Given the description of an element on the screen output the (x, y) to click on. 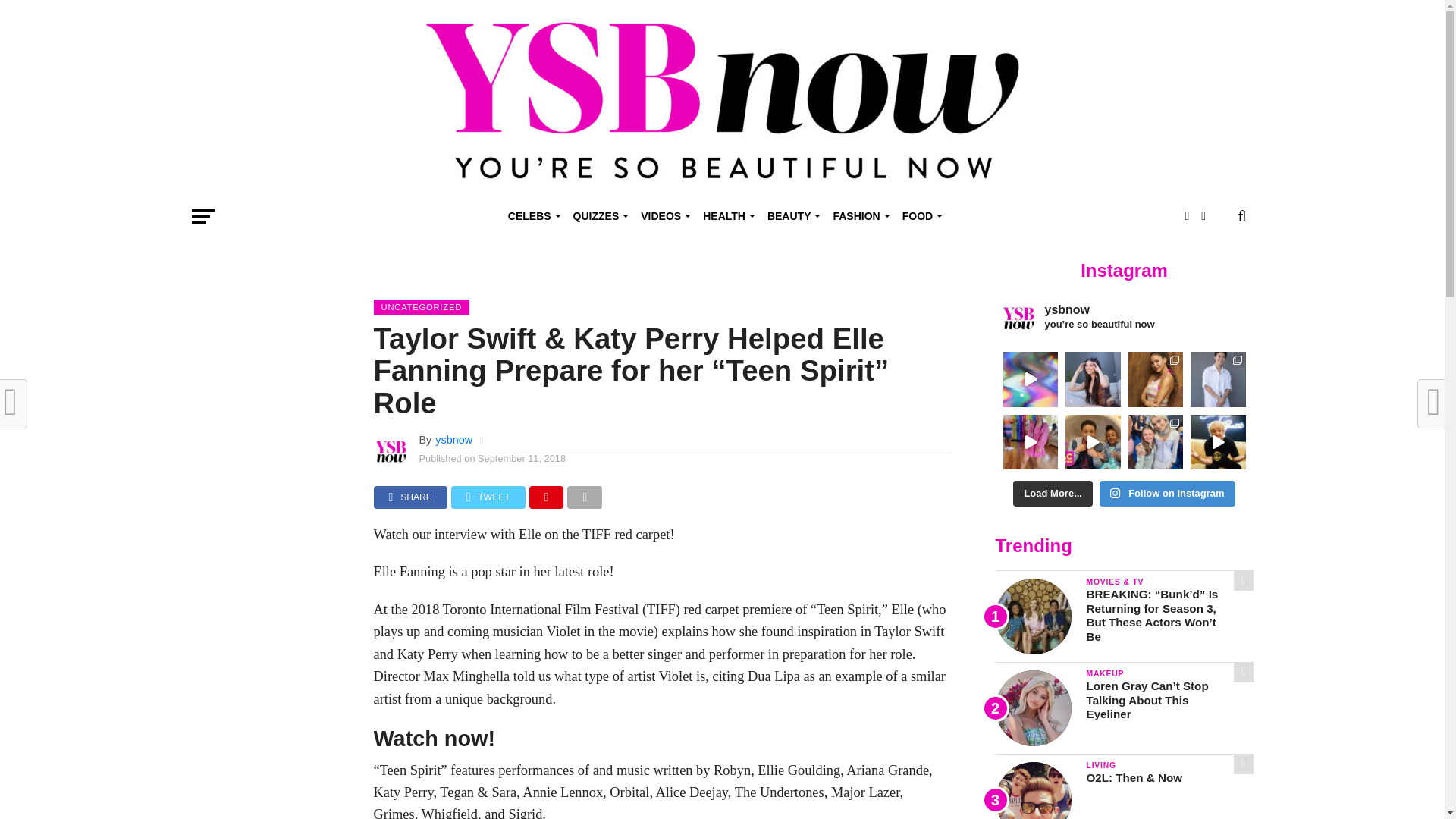
Posts by ysbnow (453, 439)
